Given the description of an element on the screen output the (x, y) to click on. 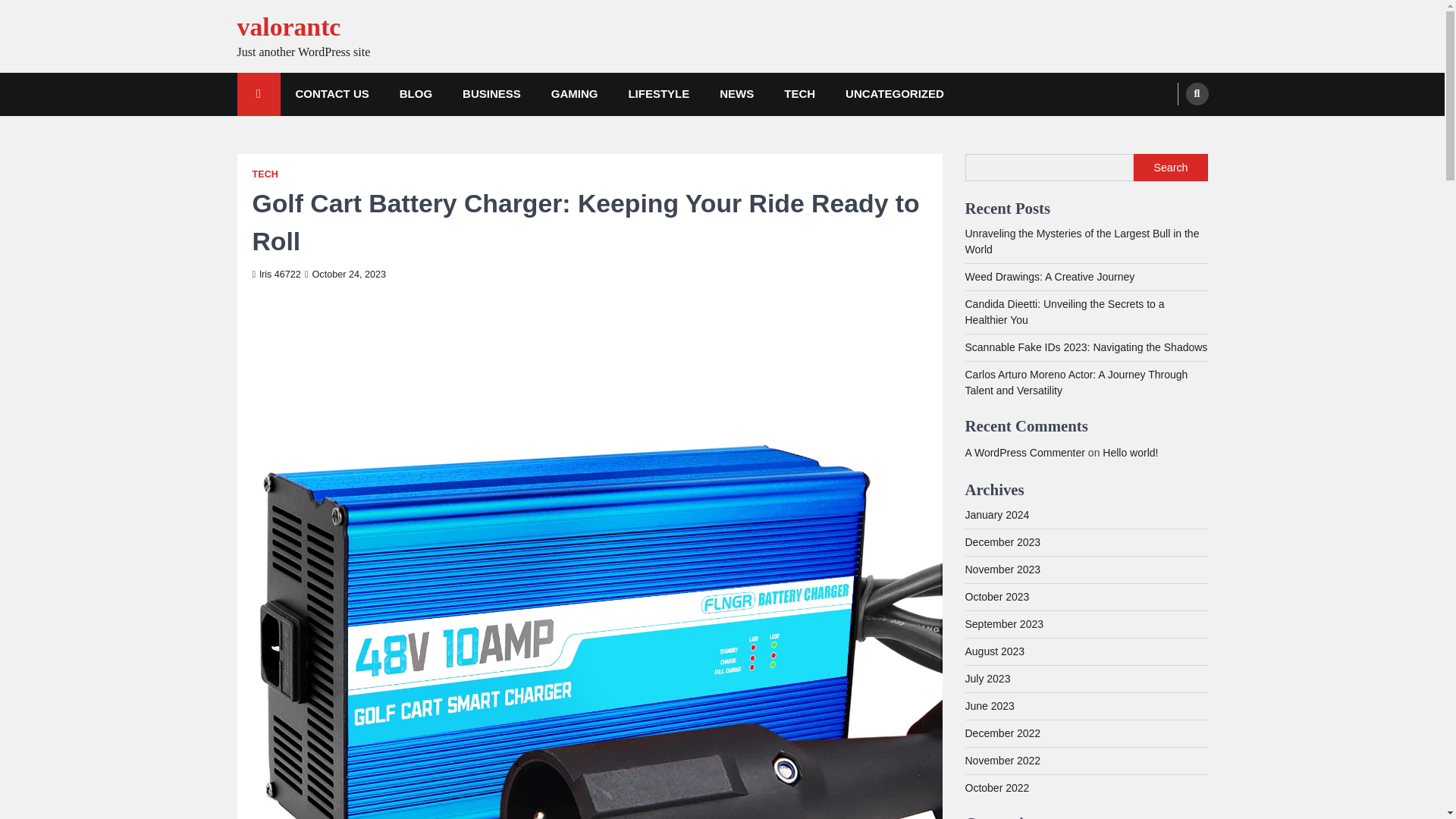
Hello world! (1129, 452)
A WordPress Commenter (1023, 452)
BLOG (415, 94)
Search (1197, 93)
November 2023 (1002, 569)
Weed Drawings: A Creative Journey (1048, 276)
NEWS (736, 94)
UNCATEGORIZED (894, 94)
October 2023 (996, 596)
